Given the description of an element on the screen output the (x, y) to click on. 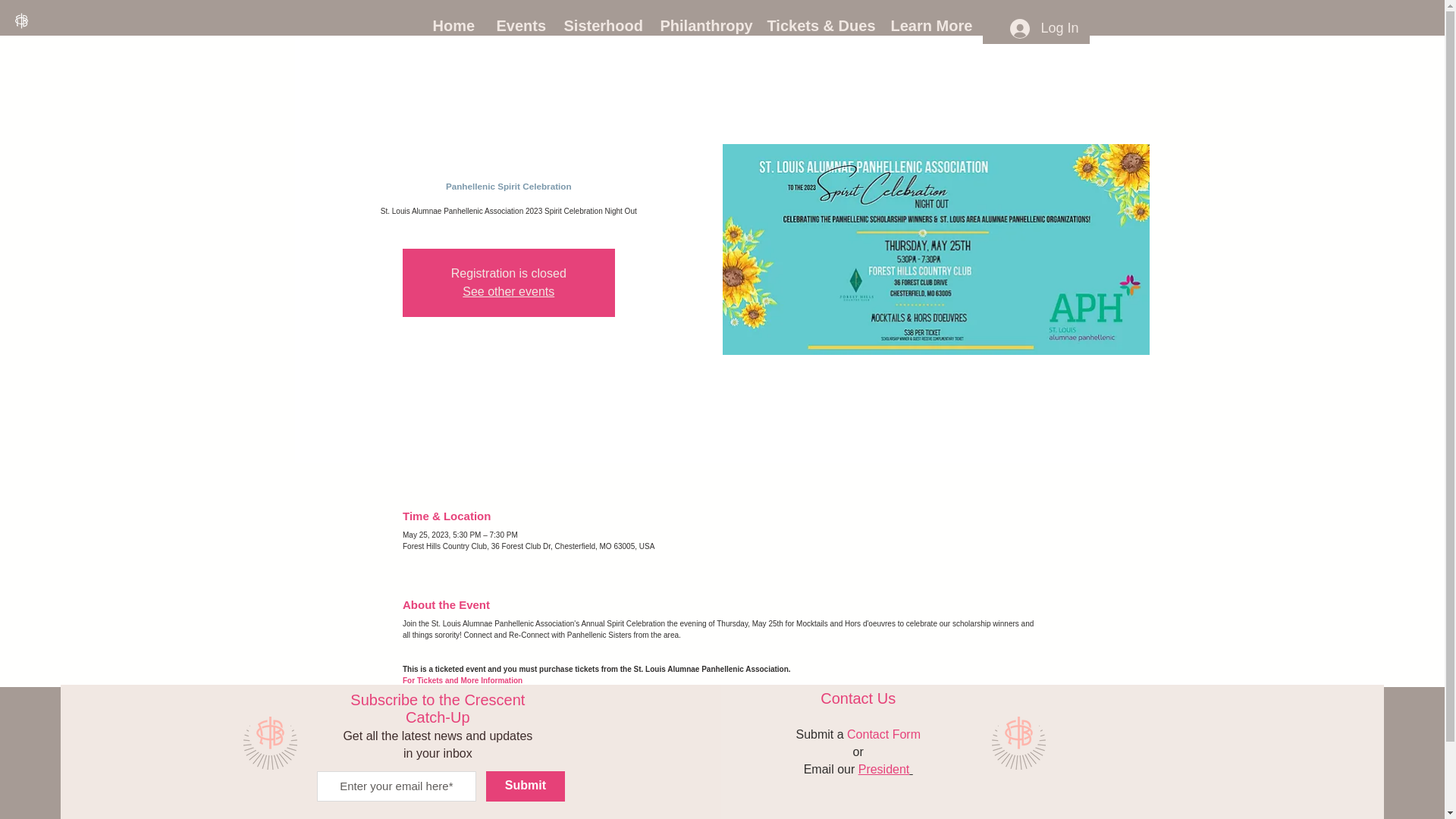
President  (885, 768)
Log In (1043, 27)
Events (518, 26)
Learn More (929, 26)
Home (453, 26)
See other events (508, 291)
Submit (525, 785)
Sisterhood (599, 26)
tact Form (894, 734)
Con (858, 734)
Philanthropy (702, 26)
For Tickets and More Information (462, 680)
